Given the description of an element on the screen output the (x, y) to click on. 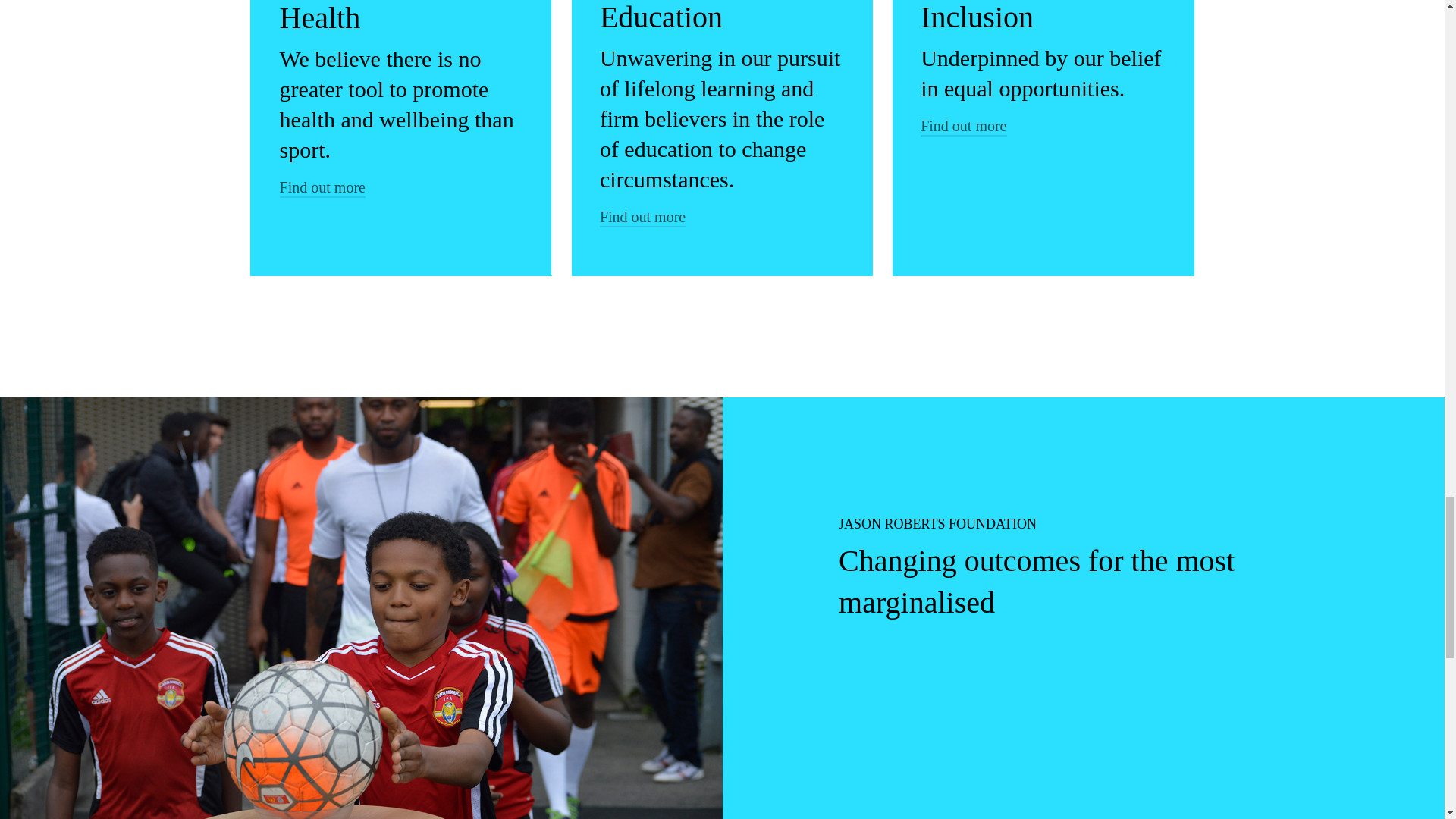
Find out more (322, 186)
Find out more (963, 125)
Find out more (642, 216)
